Given the description of an element on the screen output the (x, y) to click on. 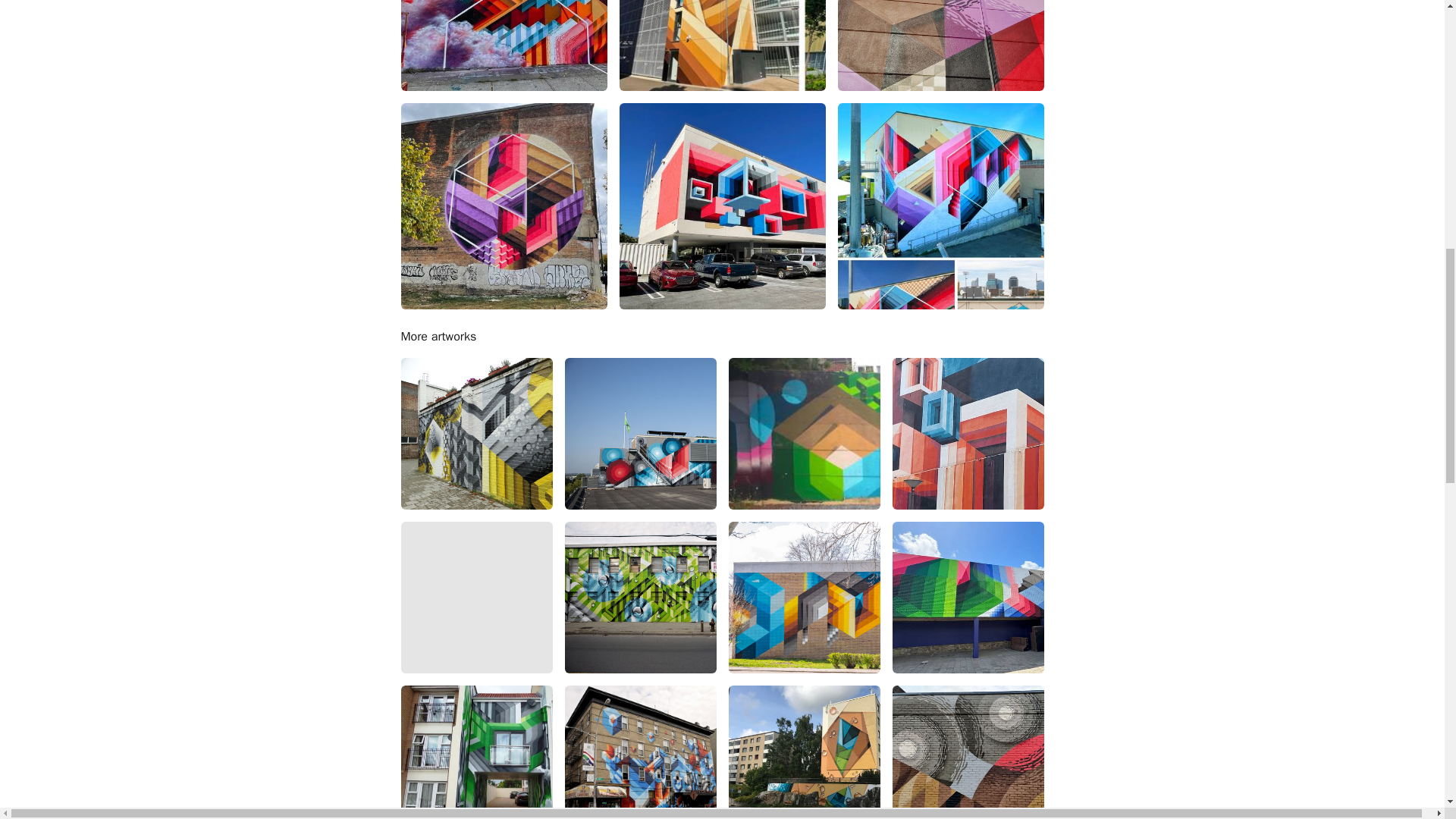
Untitled (640, 597)
untittled (503, 45)
Untitled (967, 597)
Untitled (803, 597)
Black and yellow (475, 433)
not a cube (503, 206)
Untitled (967, 433)
raw (721, 206)
Untitled (640, 433)
Colors (721, 45)
rivercats stadium (940, 206)
Untitled (803, 433)
Untitled (940, 45)
Untitled (475, 752)
